Given the description of an element on the screen output the (x, y) to click on. 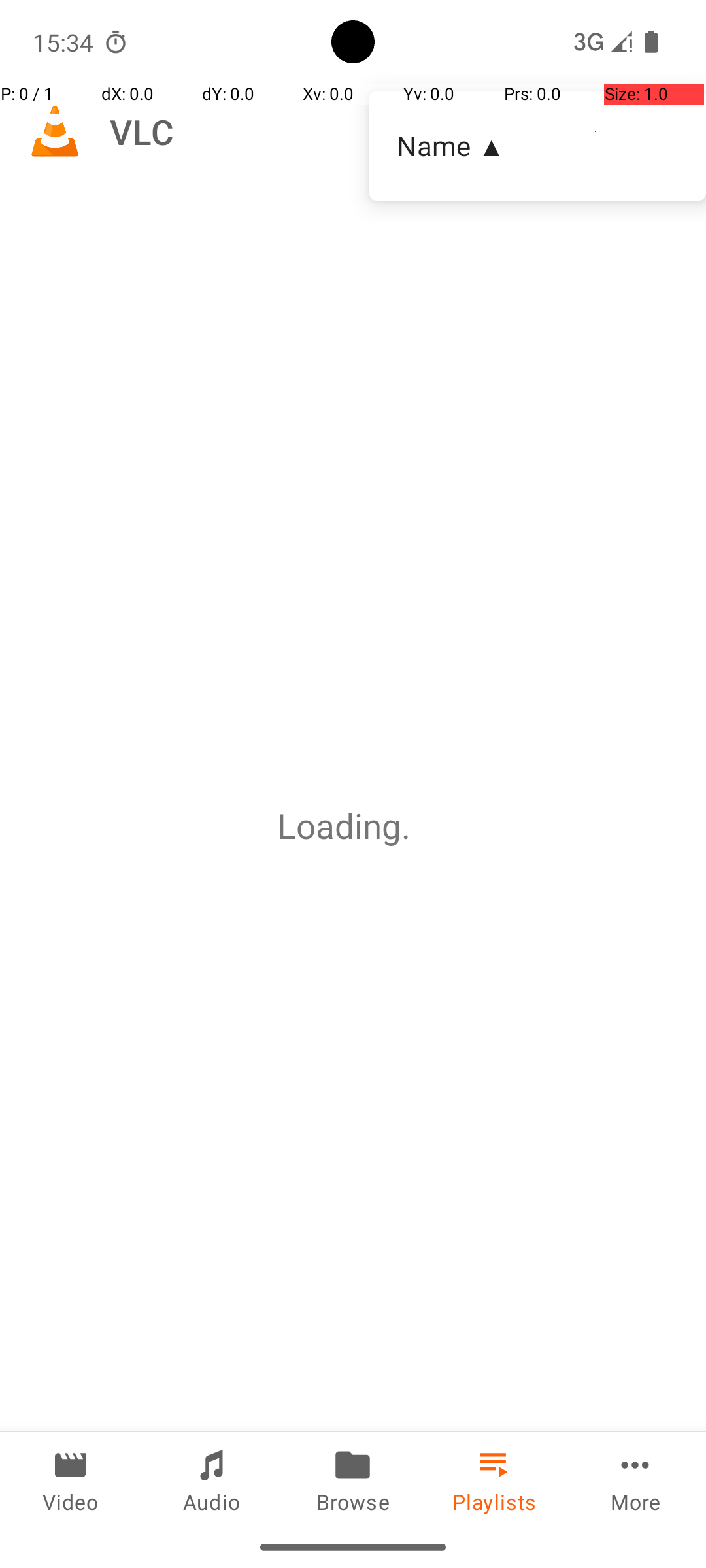
Name. Ascending Element type: android.widget.LinearLayout (537, 145)
Name ▲ Element type: android.widget.TextView (537, 145)
